Given the description of an element on the screen output the (x, y) to click on. 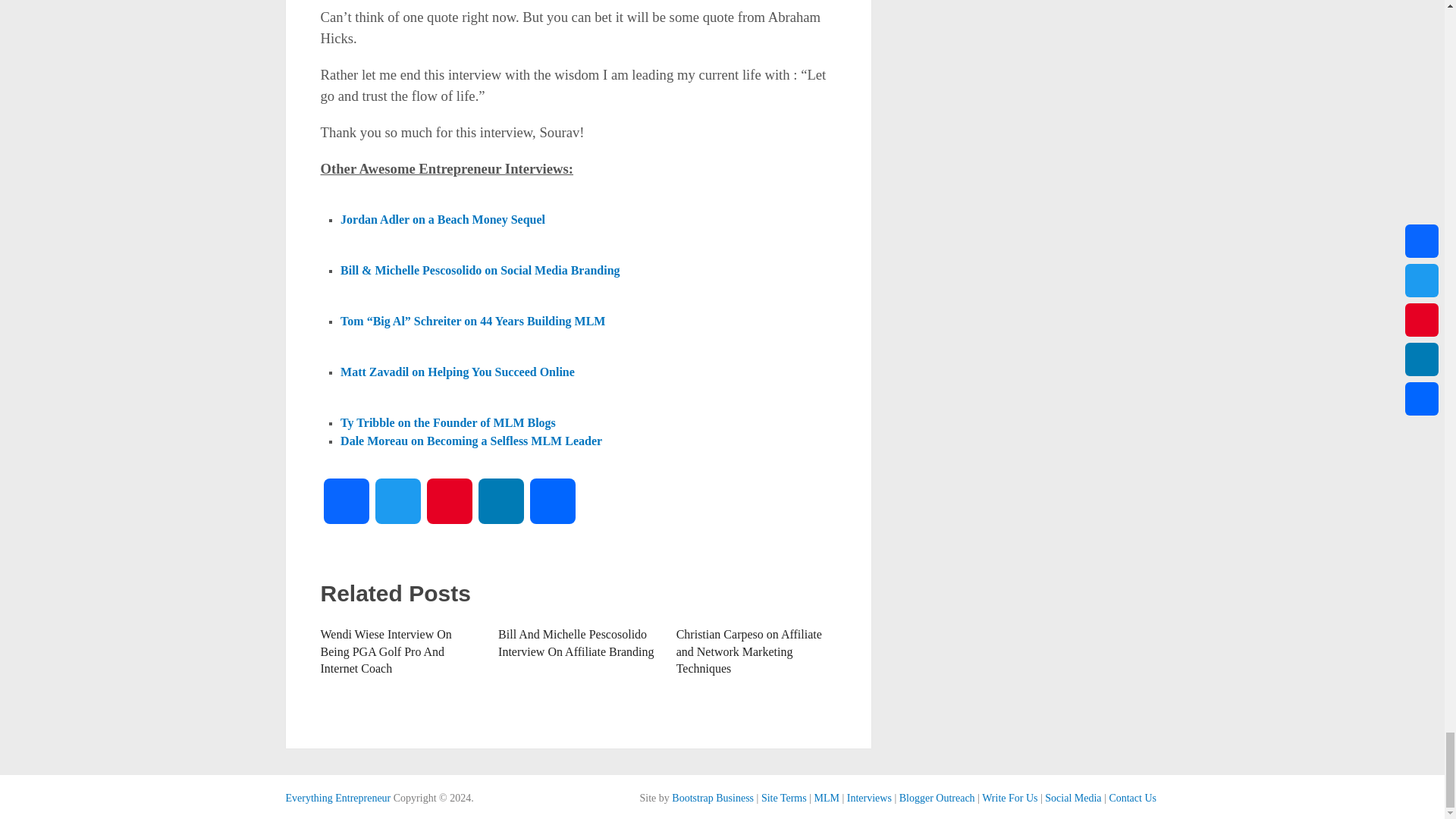
Matt Zavadil on Helping You Succeed Online (457, 372)
Ty Tribble on the Founder of MLM Blogs (448, 422)
Jordan Adler on a Beach Money Sequel (442, 219)
Dale Moreau on Becoming a Selfless MLM Leader (471, 440)
